Given the description of an element on the screen output the (x, y) to click on. 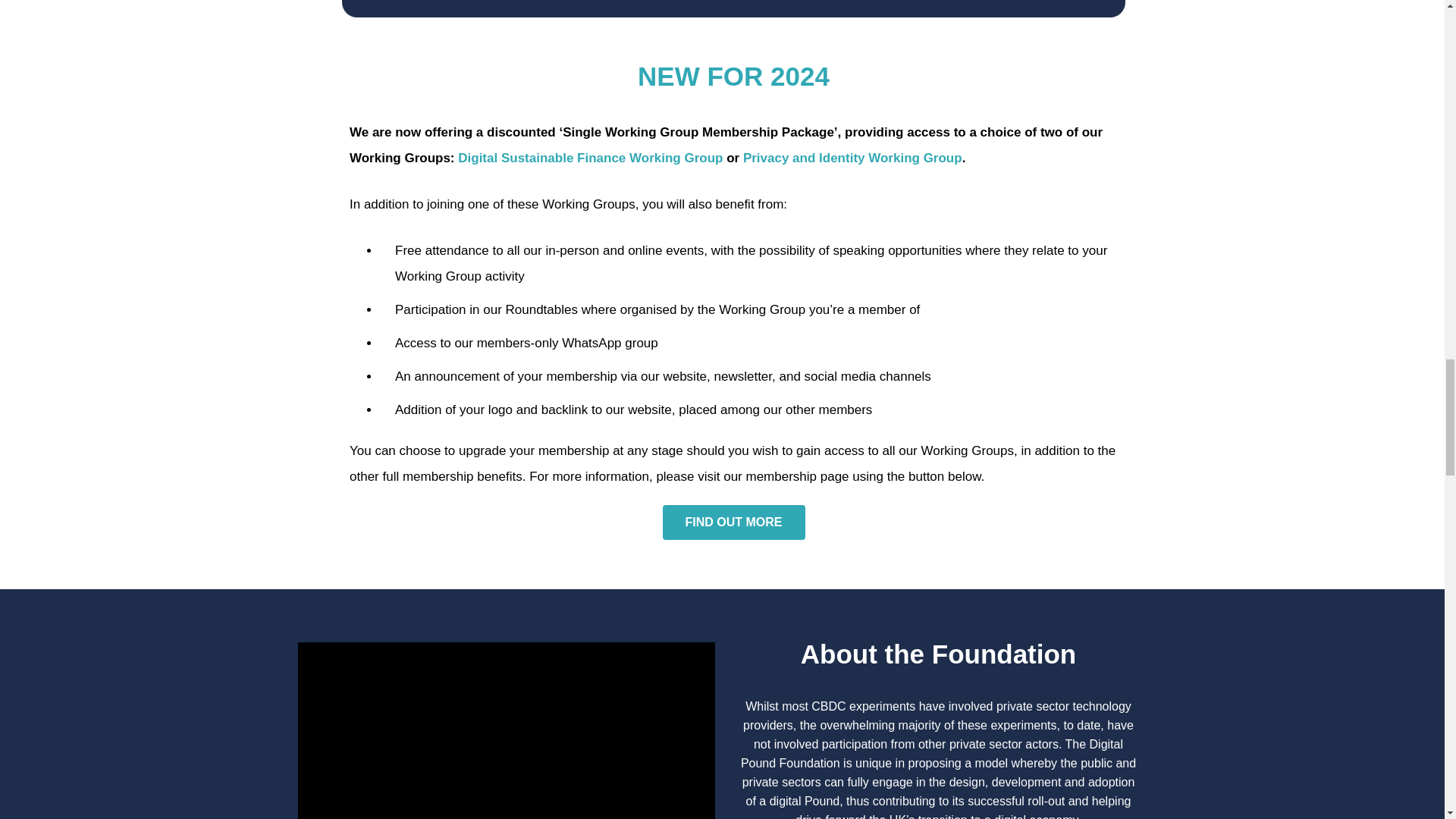
vimeo Video Player (505, 730)
Privacy and Identity Working Group (852, 157)
FIND OUT MORE (733, 522)
Digital Sustainable Finance Working Group (590, 157)
NEW FOR 2024 (733, 75)
